Given the description of an element on the screen output the (x, y) to click on. 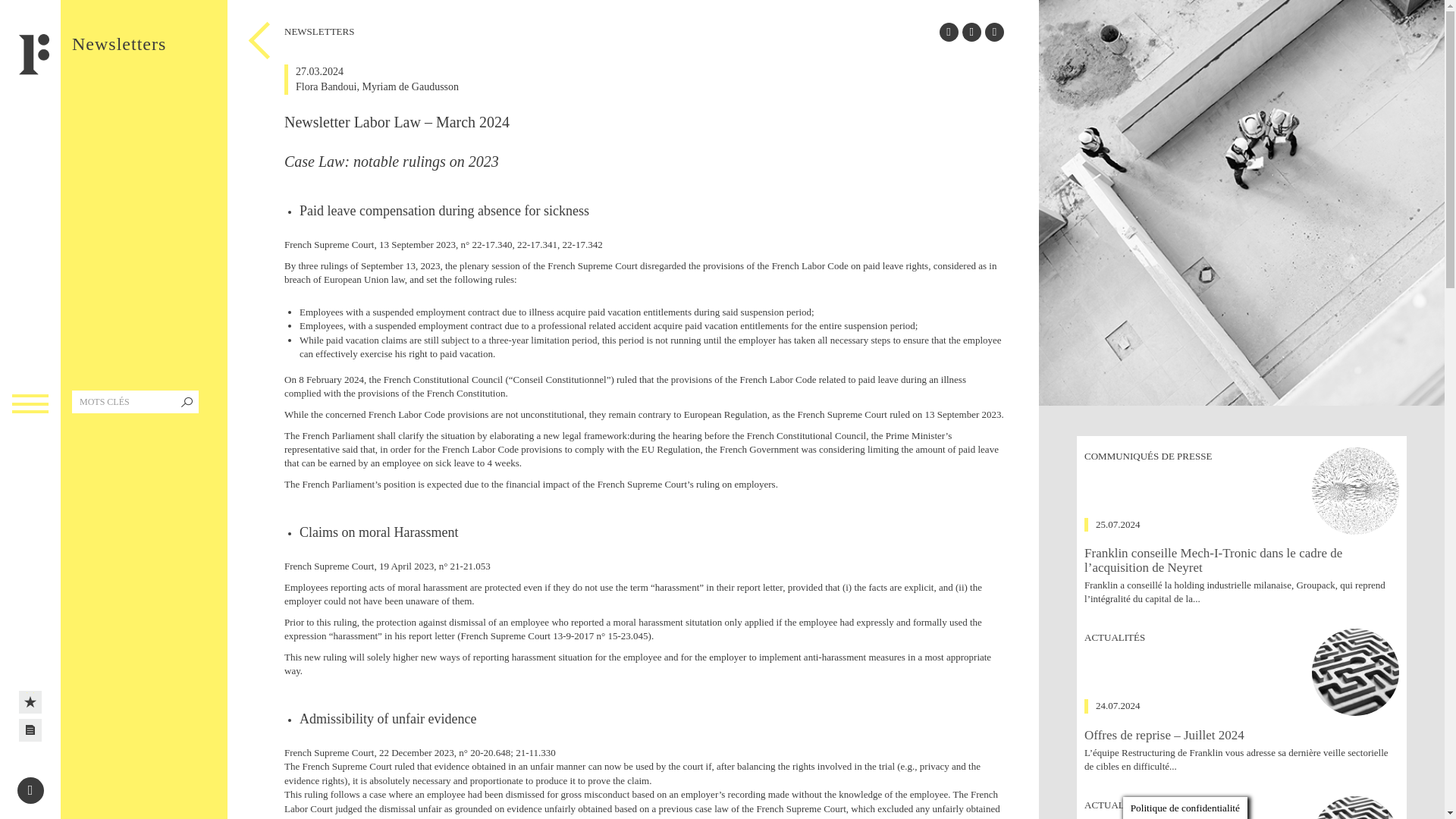
DISTINCTIONS (30, 702)
NEWSLETTERS (30, 730)
Newsletters (30, 730)
Distinctions (30, 702)
